Given the description of an element on the screen output the (x, y) to click on. 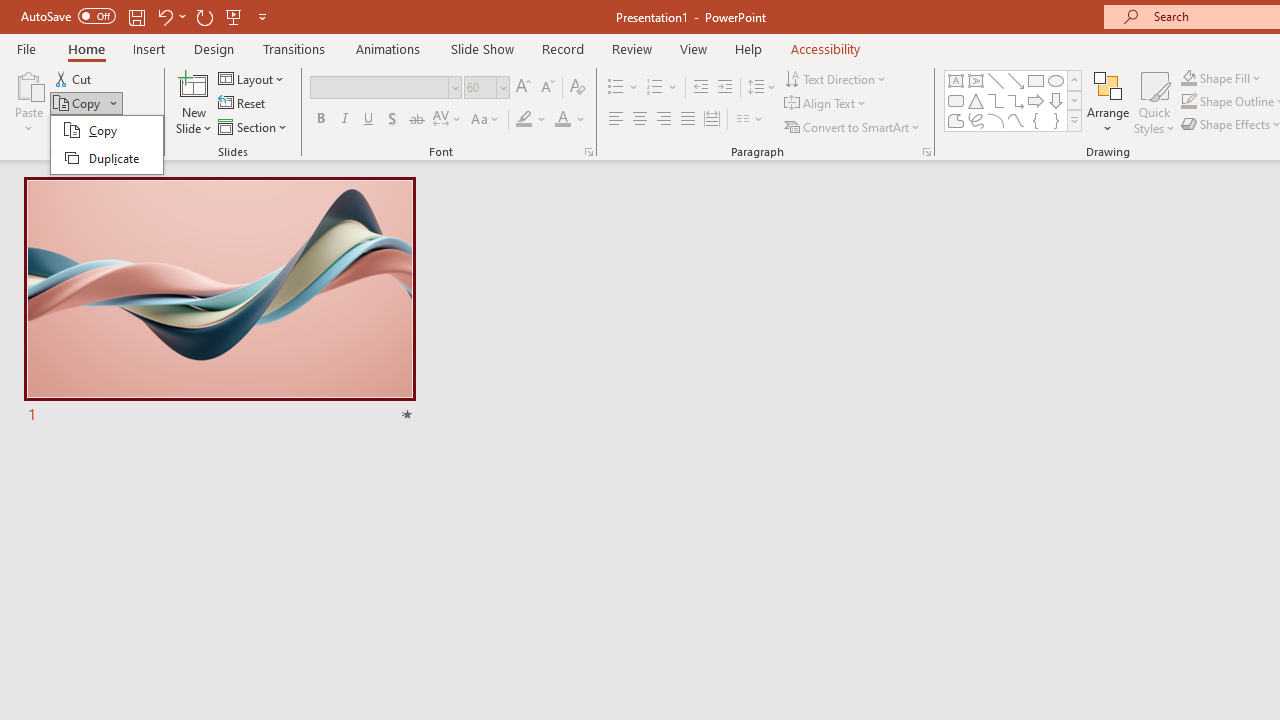
&Copy (106, 144)
